Given the description of an element on the screen output the (x, y) to click on. 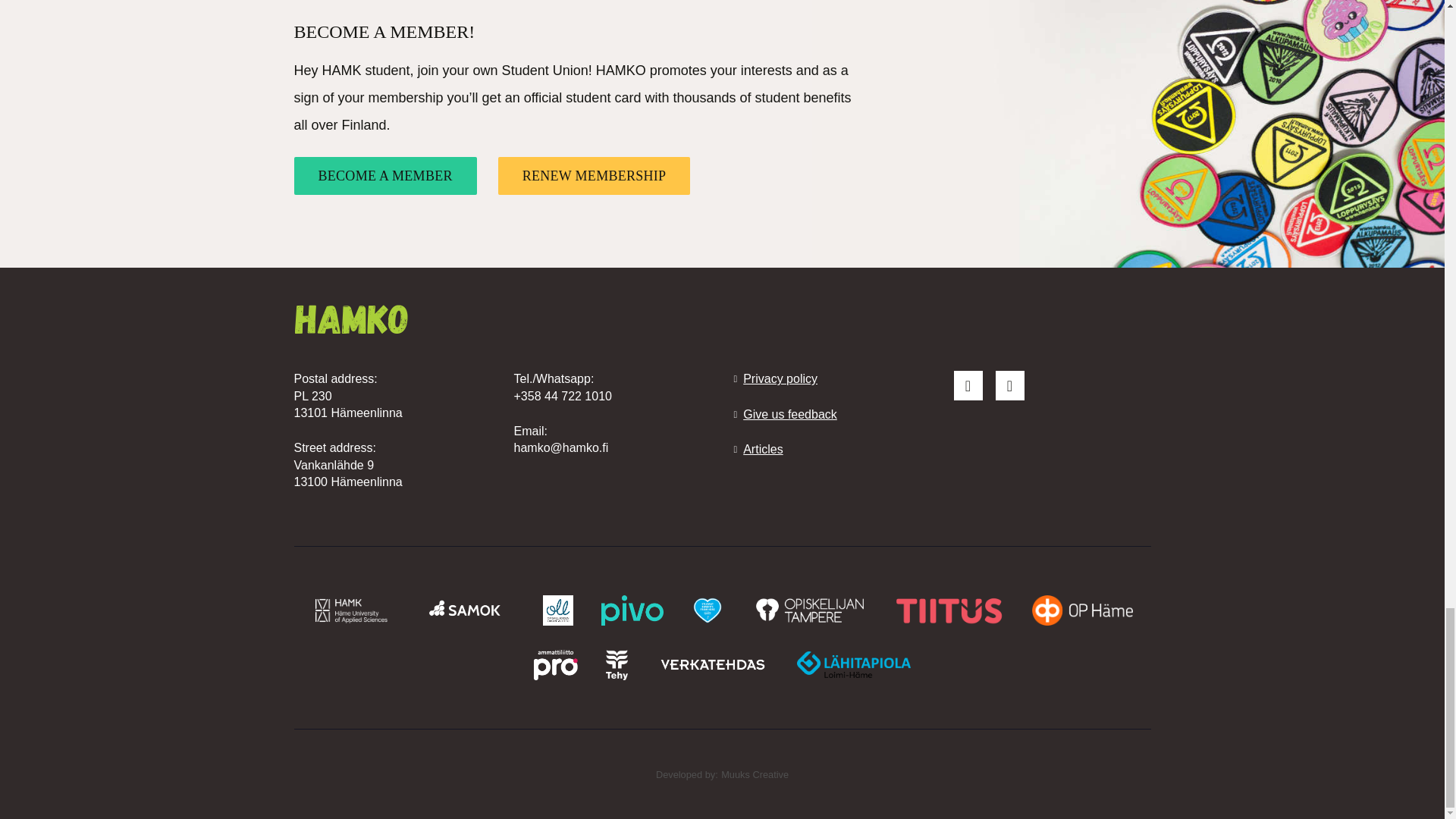
Pro ENG logo (556, 663)
Facebook (967, 385)
Pivo ENG logo (632, 608)
SAMOK ENG logo (467, 608)
OT ENG logo (809, 608)
OLL ENG logo (558, 608)
Slice.fi ENG logo (706, 608)
HAMK ENG logo (351, 608)
Instagram (1010, 385)
